Given the description of an element on the screen output the (x, y) to click on. 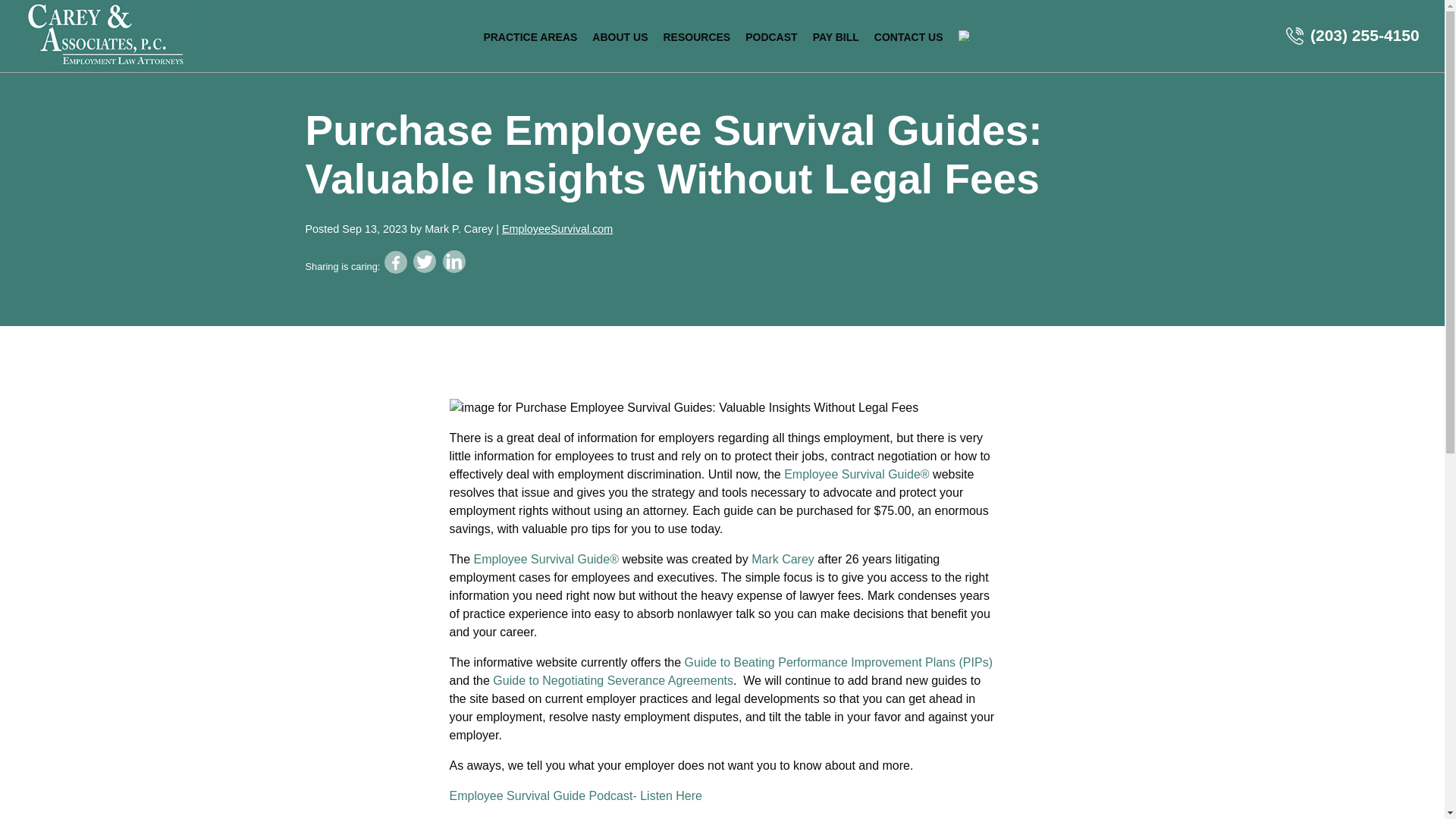
Share on Facebook (395, 261)
PRACTICE AREAS (529, 36)
Go (797, 426)
Share on LinkedIn (453, 261)
Share on Twitter (424, 261)
CONTACT US (909, 36)
RESOURCES (696, 36)
